Given the description of an element on the screen output the (x, y) to click on. 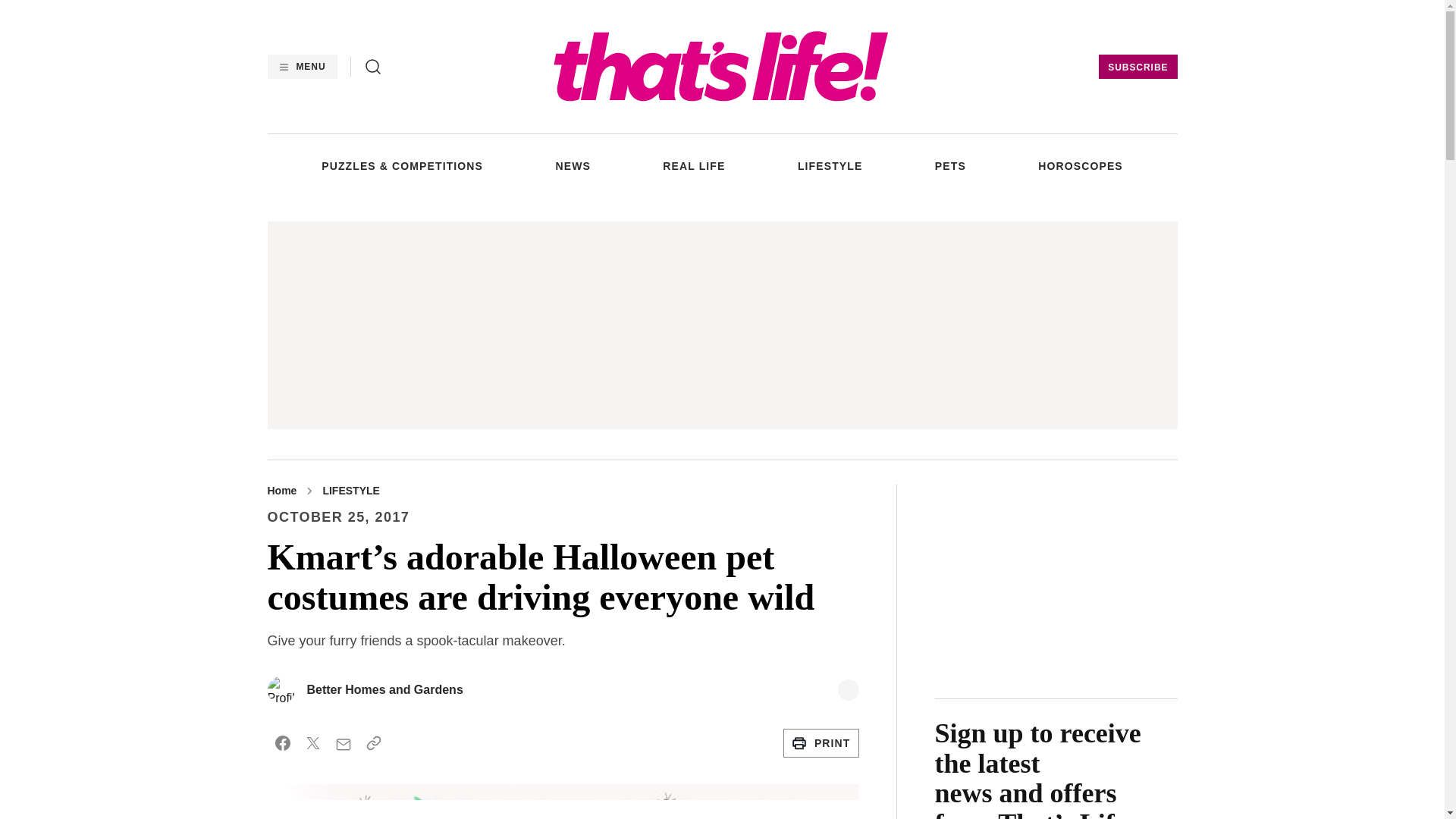
MENU (301, 66)
REAL LIFE (693, 165)
HOROSCOPES (1080, 165)
NEWS (571, 165)
SUBSCRIBE (1137, 66)
LIFESTYLE (830, 165)
PETS (950, 165)
